Given the description of an element on the screen output the (x, y) to click on. 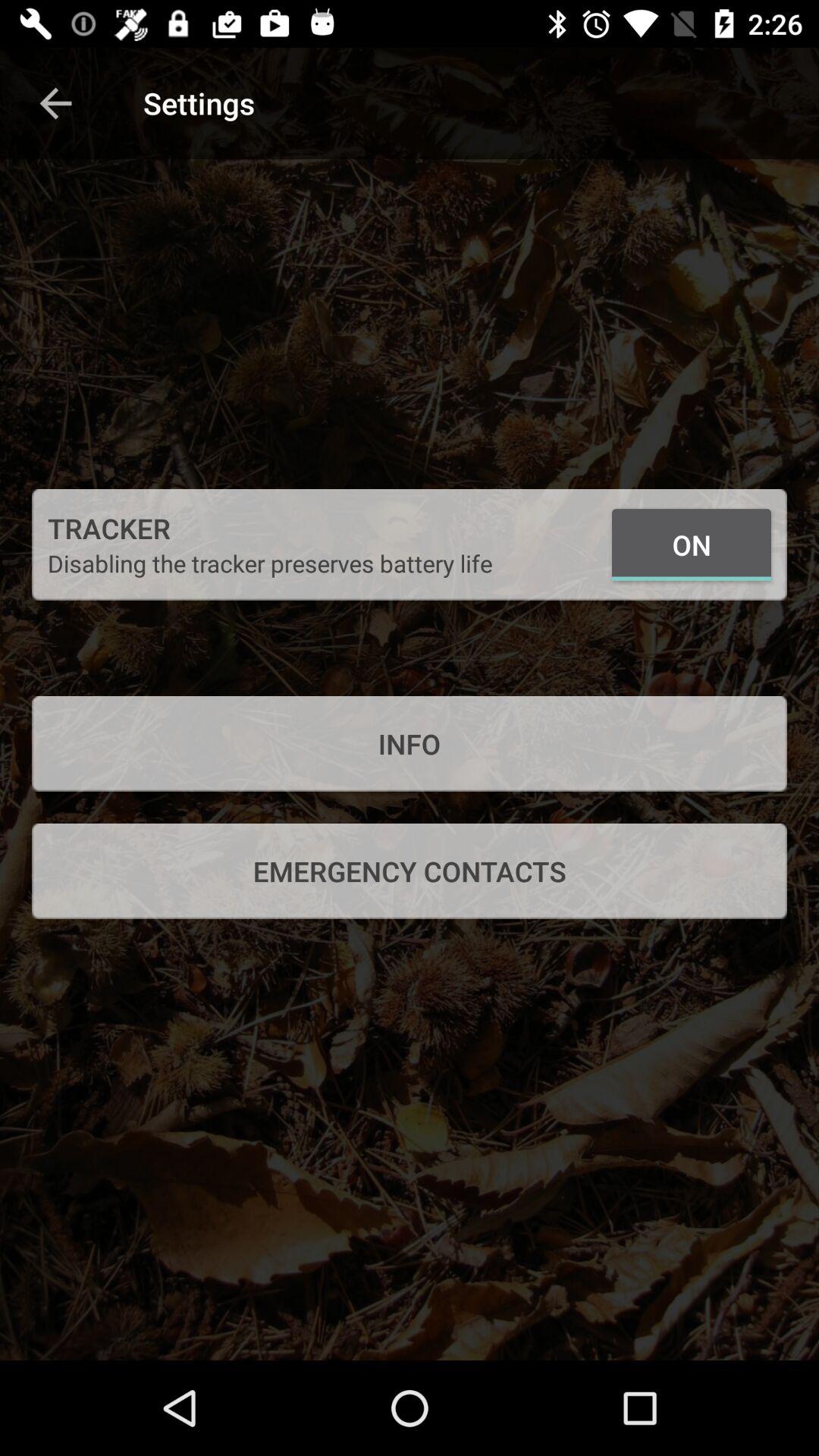
jump until on item (691, 544)
